Given the description of an element on the screen output the (x, y) to click on. 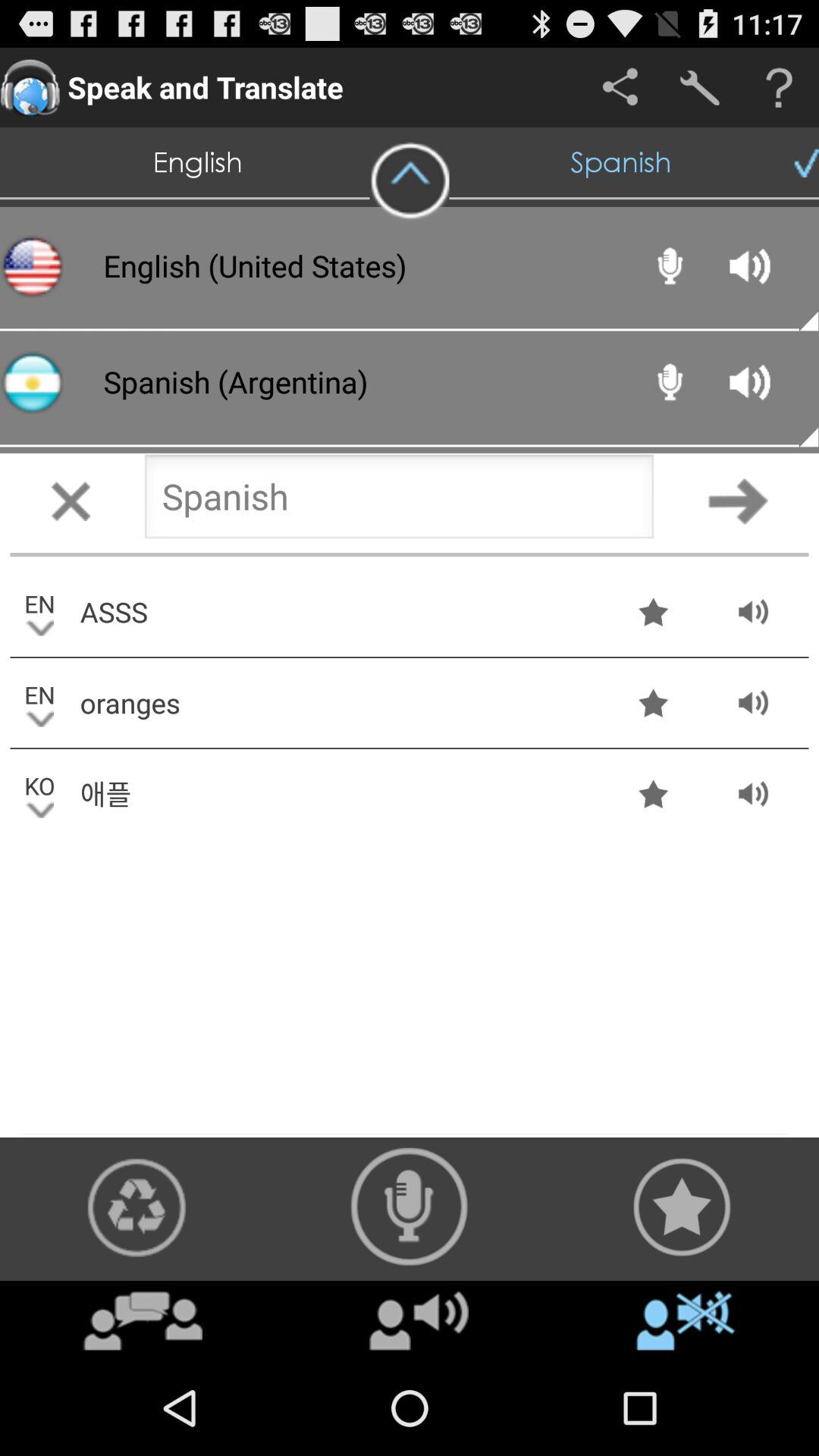
open the app to the right of the en app (338, 611)
